Given the description of an element on the screen output the (x, y) to click on. 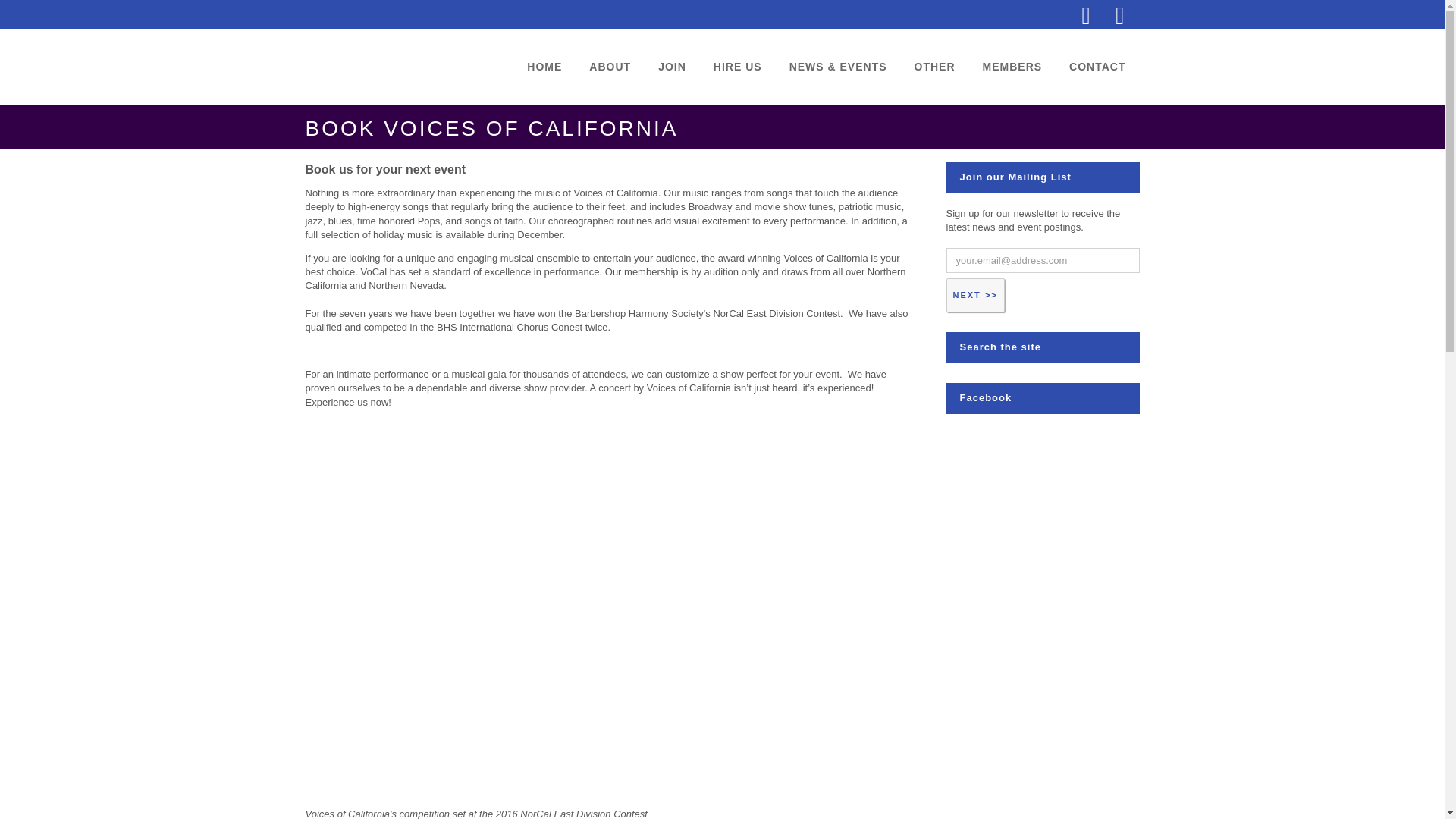
HIRE US (738, 66)
ABOUT (610, 66)
OTHER (935, 66)
